Given the description of an element on the screen output the (x, y) to click on. 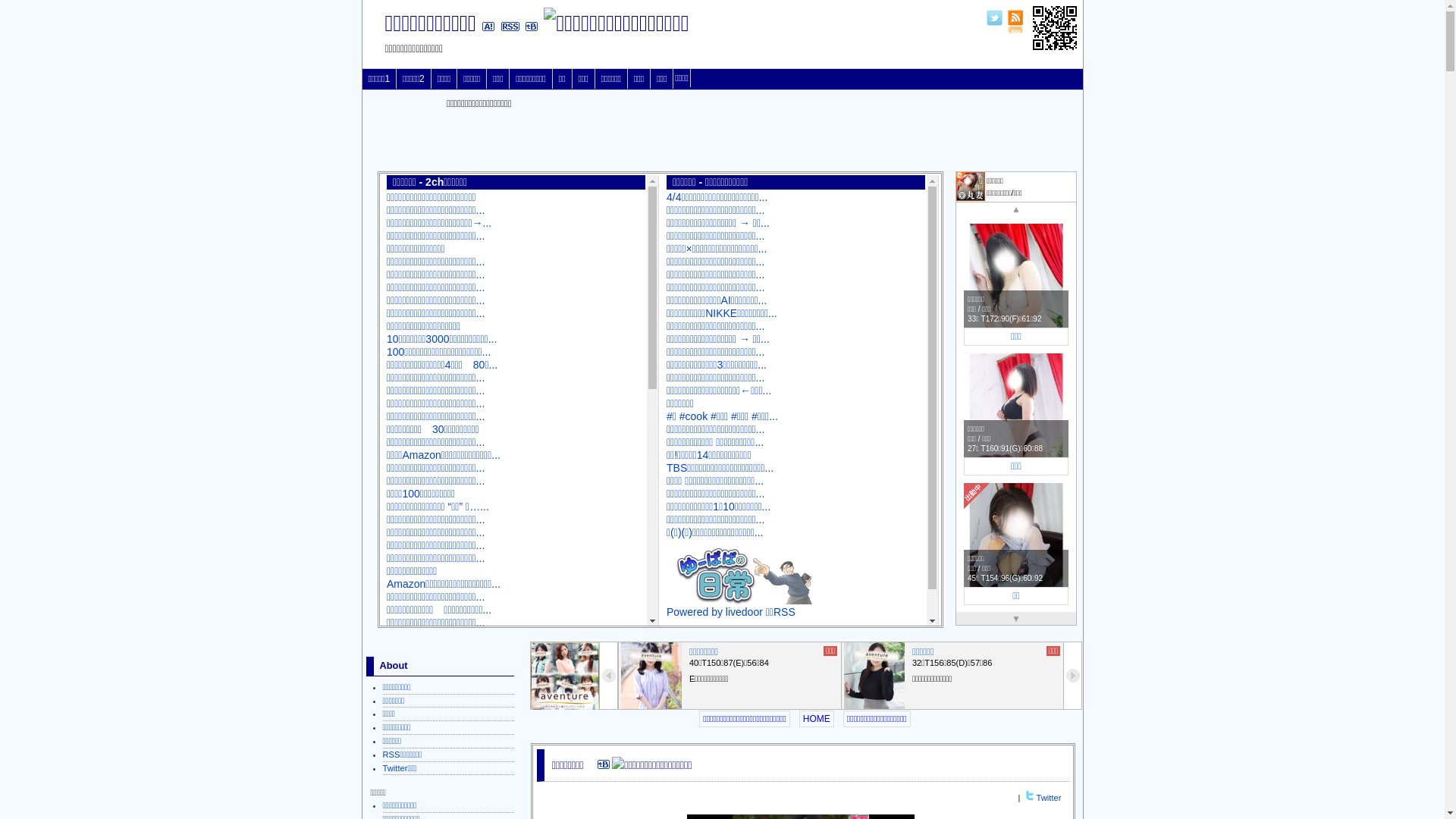
Twitter Element type: text (1048, 797)
HOME Element type: text (816, 718)
